Given the description of an element on the screen output the (x, y) to click on. 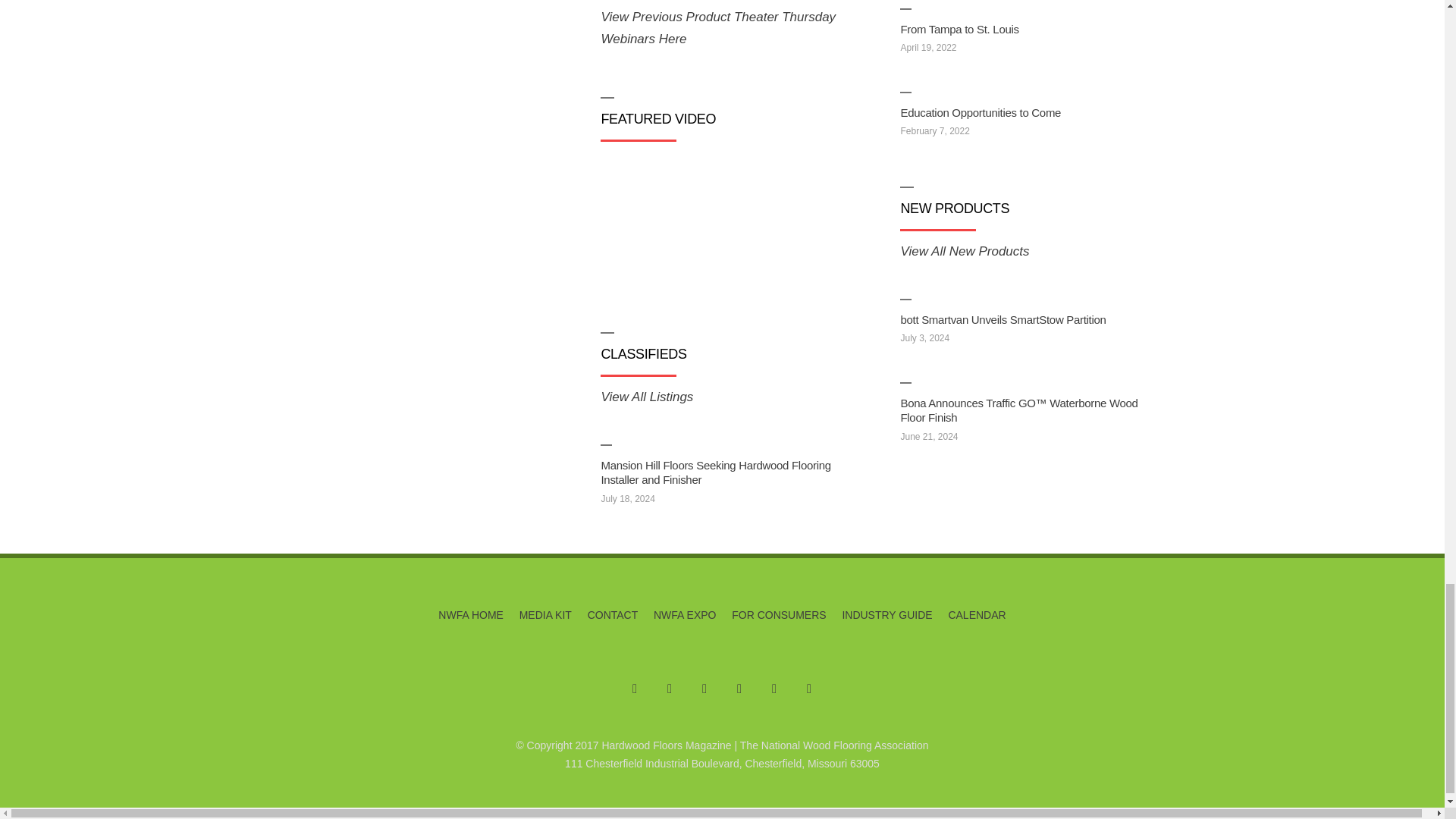
PODCASTS (376, 57)
